Given the description of an element on the screen output the (x, y) to click on. 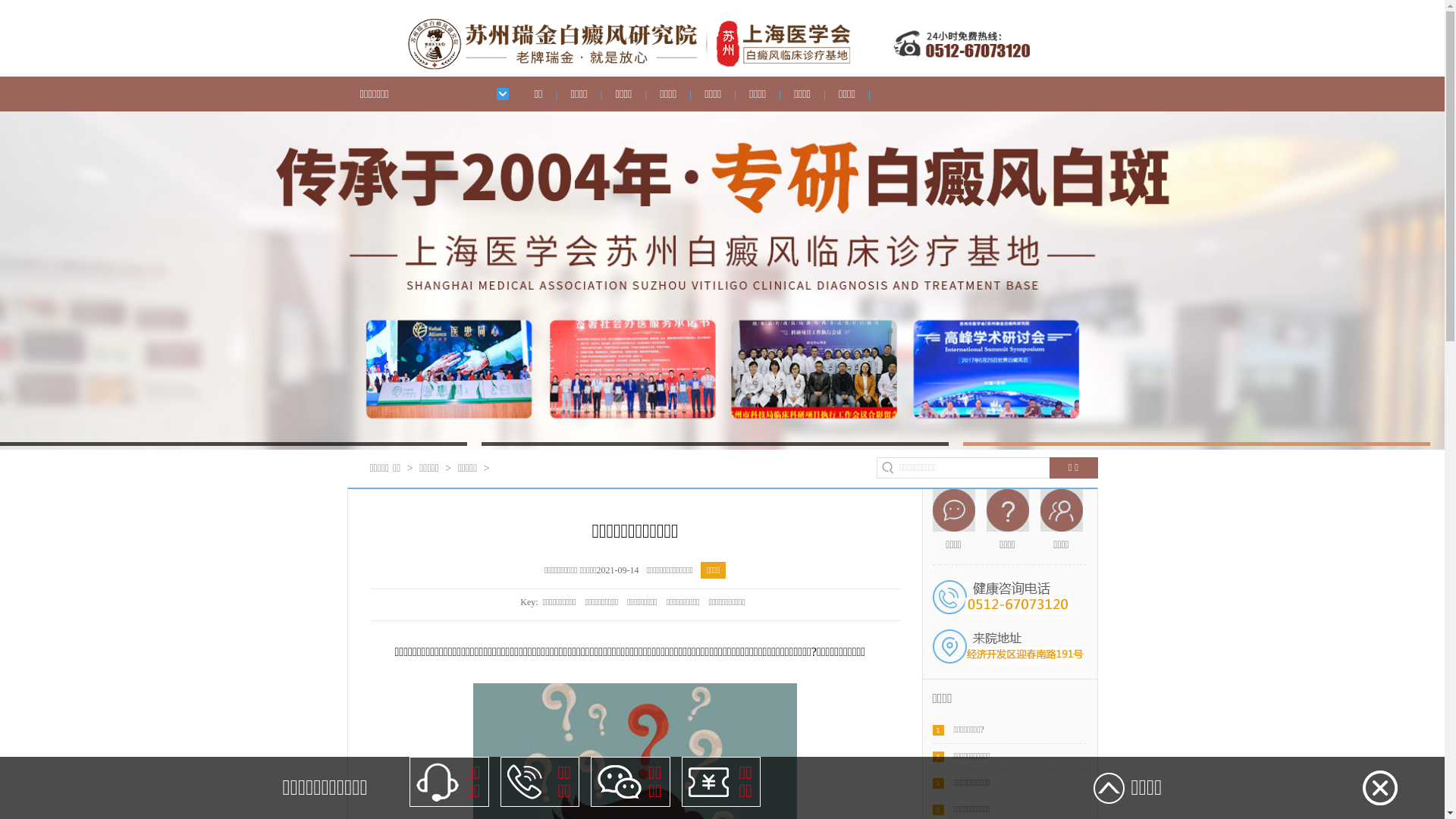
banner2 Element type: hover (722, 116)
0512-67073120 Element type: hover (1001, 597)
